Given the description of an element on the screen output the (x, y) to click on. 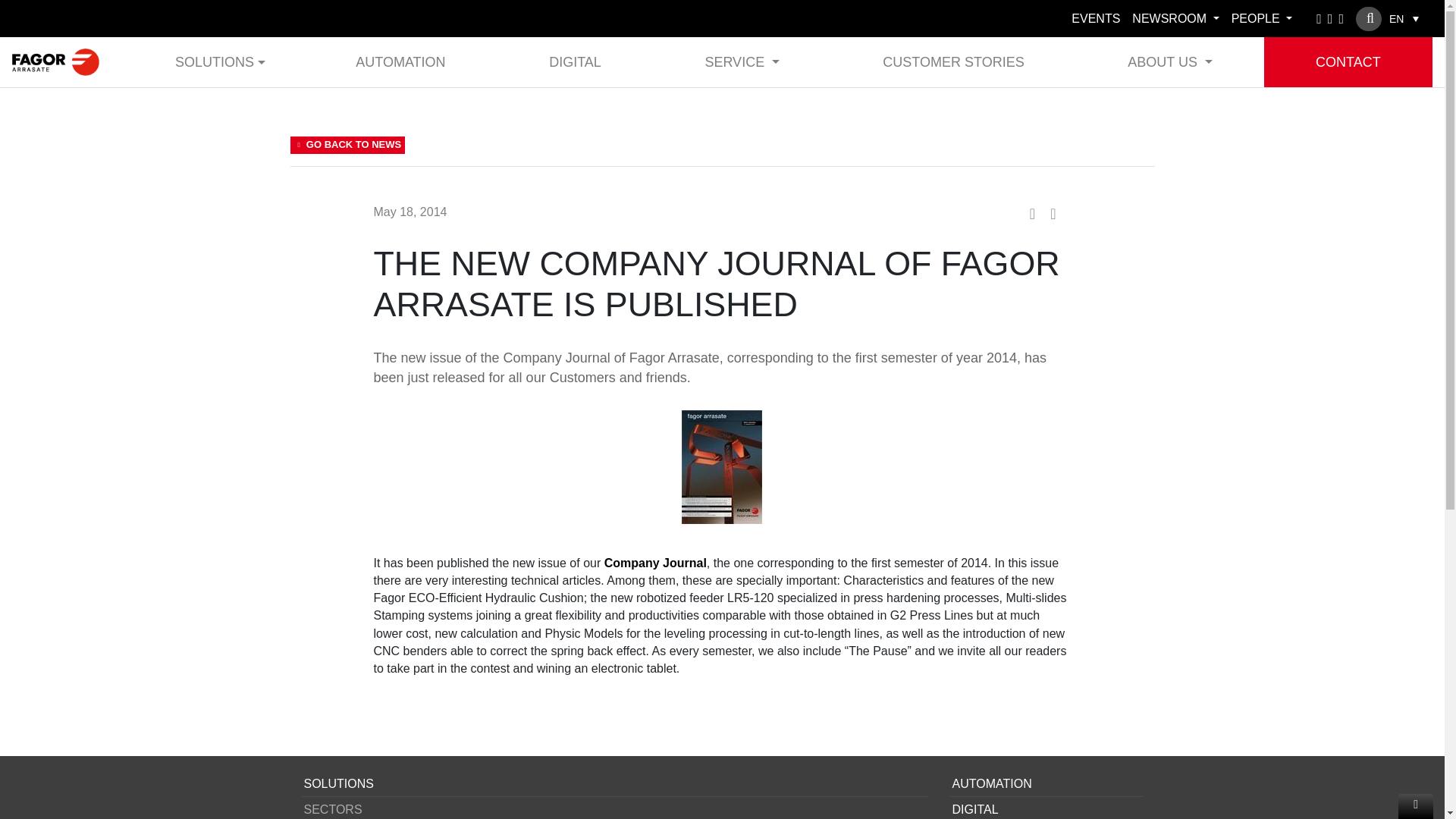
NEWSROOM (1174, 18)
EVENTS (1095, 18)
PEOPLE (1261, 18)
EN (1403, 18)
